Given the description of an element on the screen output the (x, y) to click on. 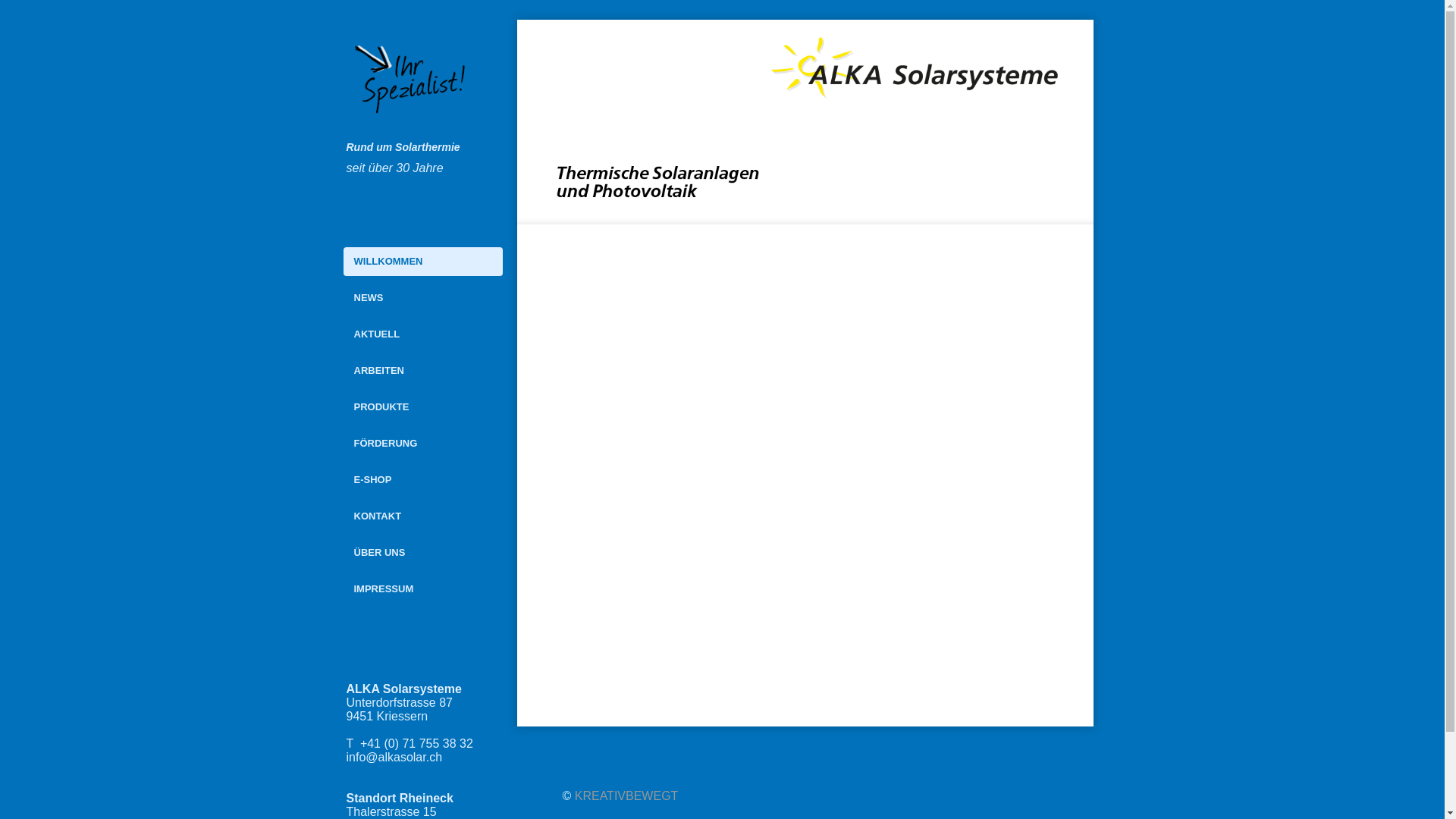
PRODUKTE Element type: text (422, 406)
AKTUELL Element type: text (422, 334)
NEWS Element type: text (422, 297)
KREATIVBEWEGT Element type: text (626, 795)
E-SHOP Element type: text (422, 479)
KONTAKT Element type: text (422, 516)
IMPRESSUM Element type: text (422, 588)
WILLKOMMEN Element type: text (422, 261)
ARBEITEN Element type: text (422, 370)
